Given the description of an element on the screen output the (x, y) to click on. 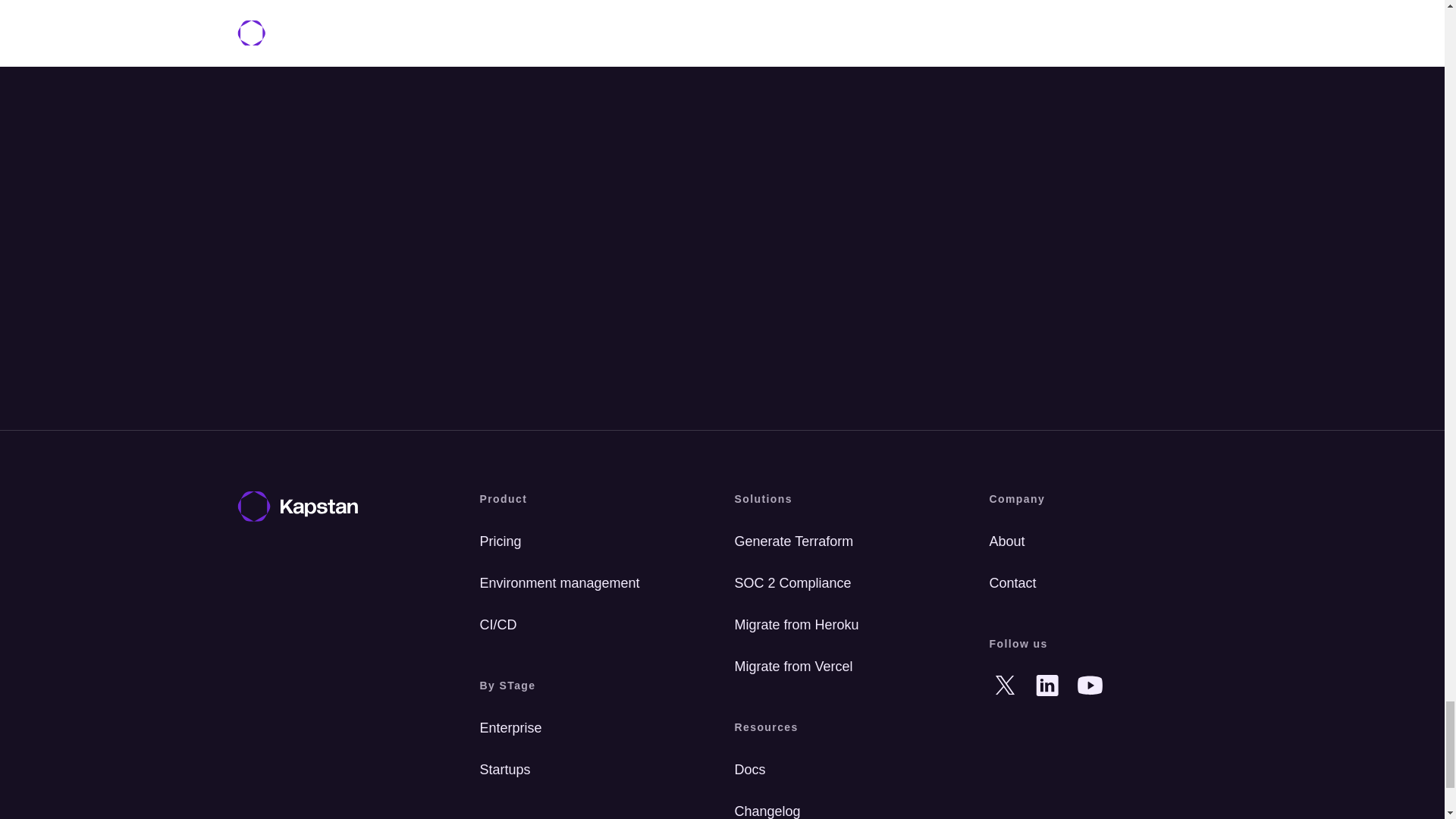
Changelog (842, 807)
Migrate from Heroku (842, 625)
Pricing (588, 541)
Generate Terraform (842, 541)
Migrate from Vercel (842, 666)
Enterprise (588, 727)
Contact (1097, 583)
Docs (842, 769)
About (1097, 541)
SOC 2 Compliance (842, 583)
Environment management (588, 583)
Startups (588, 769)
